Given the description of an element on the screen output the (x, y) to click on. 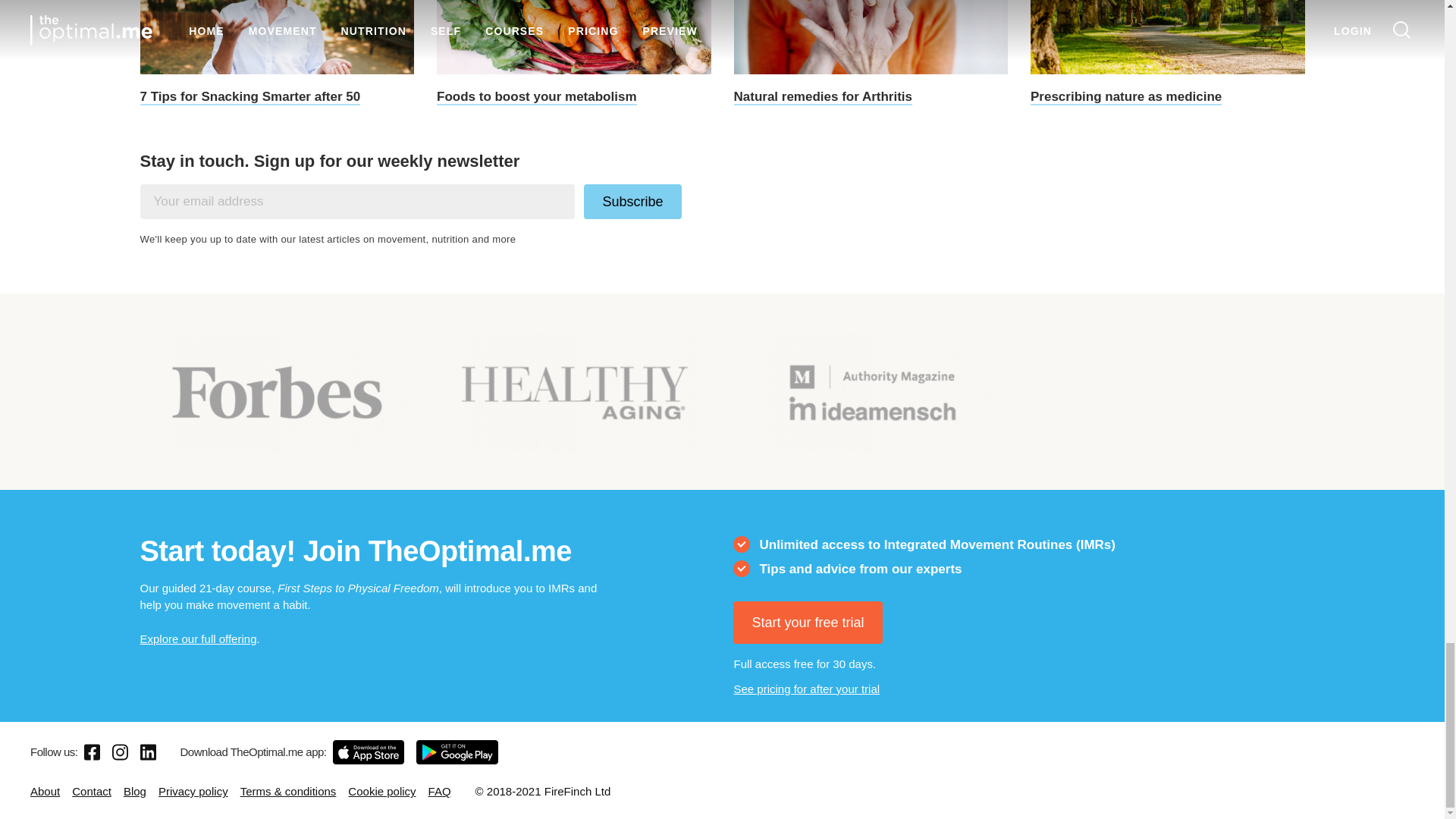
7 Tips for Snacking Smarter after 50 (276, 53)
7 Tips for Snacking Smarter after 50 (276, 53)
Prescribing nature as medicine (1167, 53)
Foods to boost your metabolism (573, 53)
Natural remedies for Arthritis (871, 53)
Foods to boost your metabolism (573, 53)
